Given the description of an element on the screen output the (x, y) to click on. 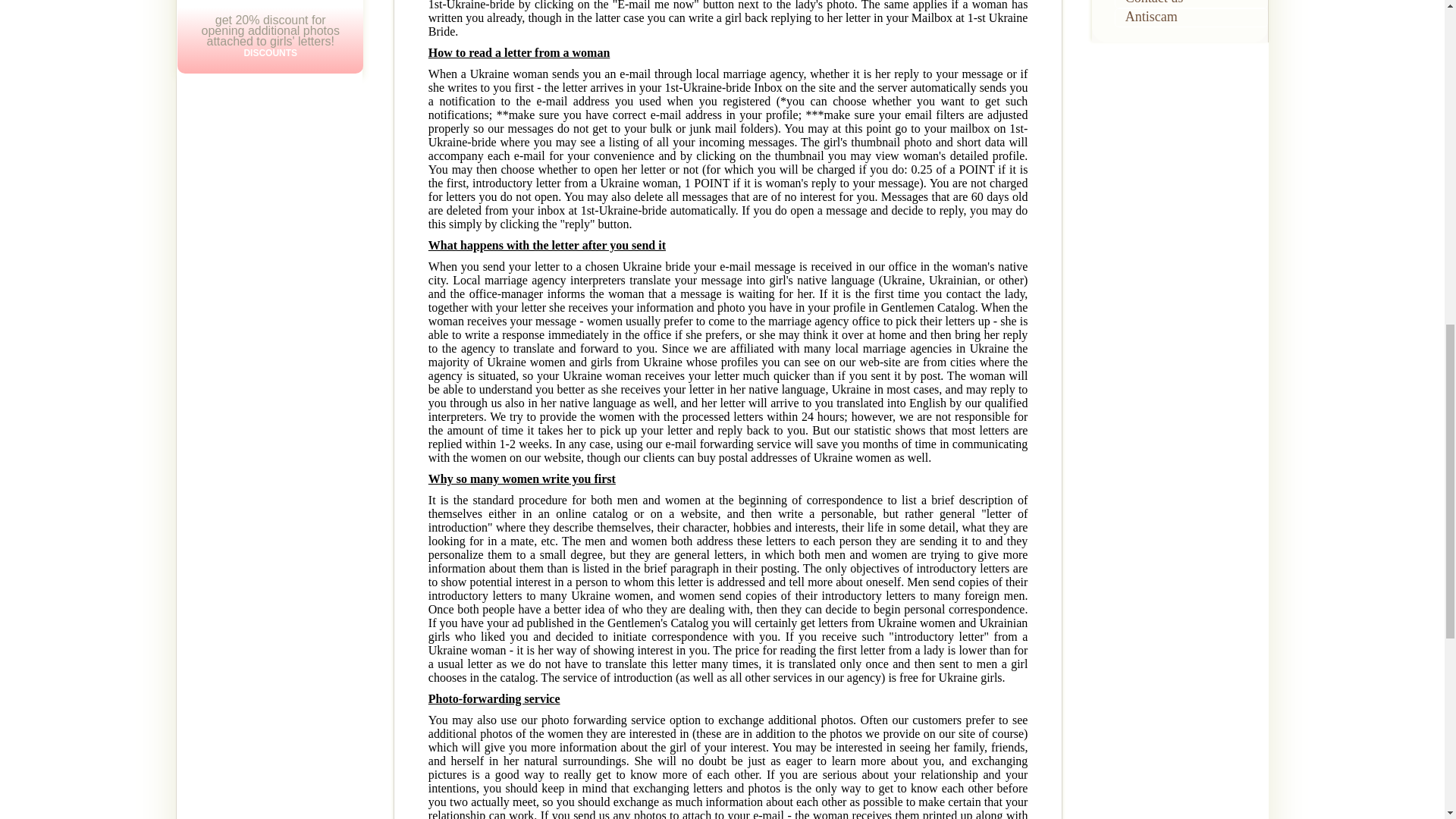
DISCOUNTS (270, 52)
